Given the description of an element on the screen output the (x, y) to click on. 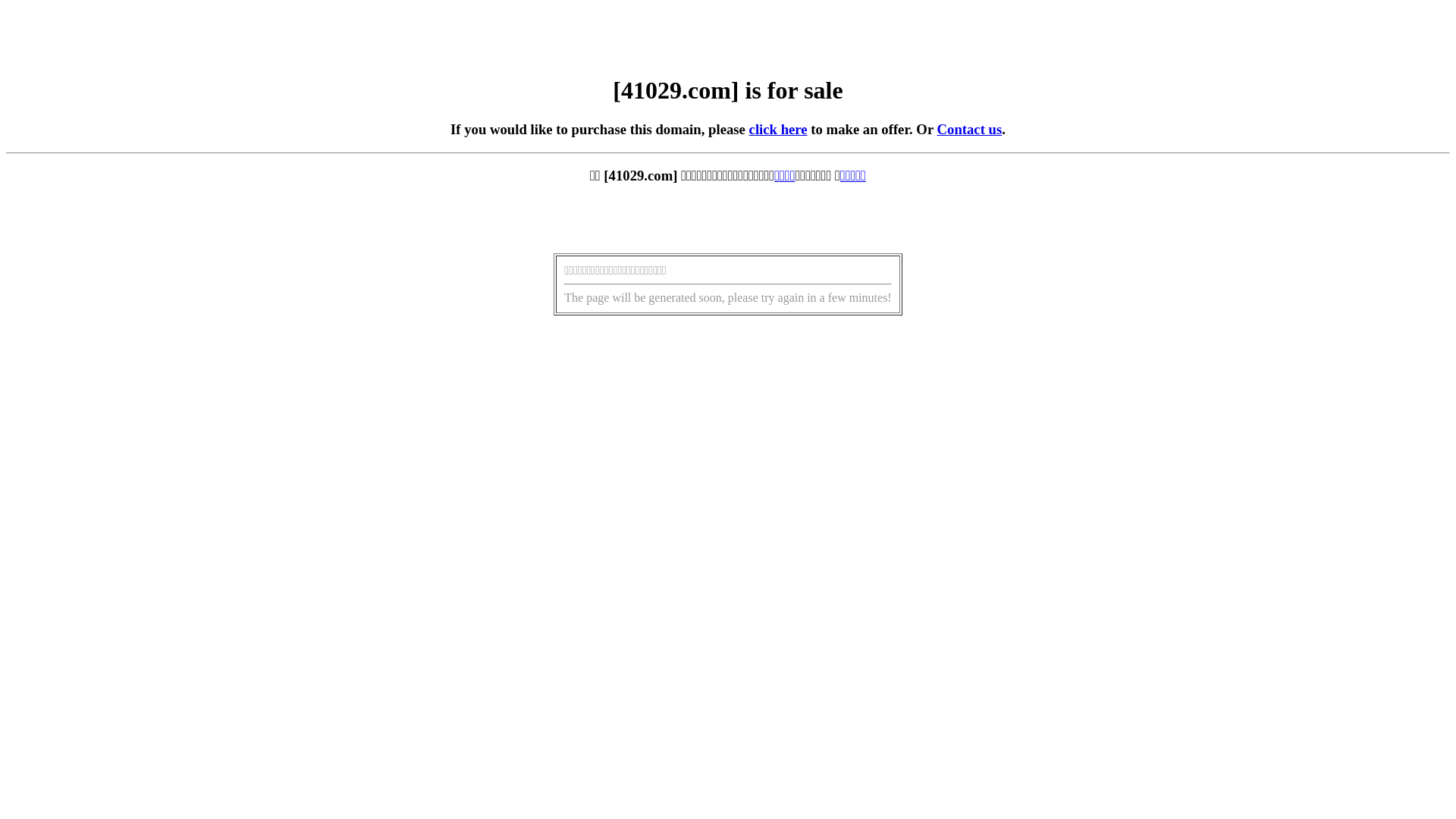
click here Element type: text (778, 129)
Contact us Element type: text (969, 129)
